Given the description of an element on the screen output the (x, y) to click on. 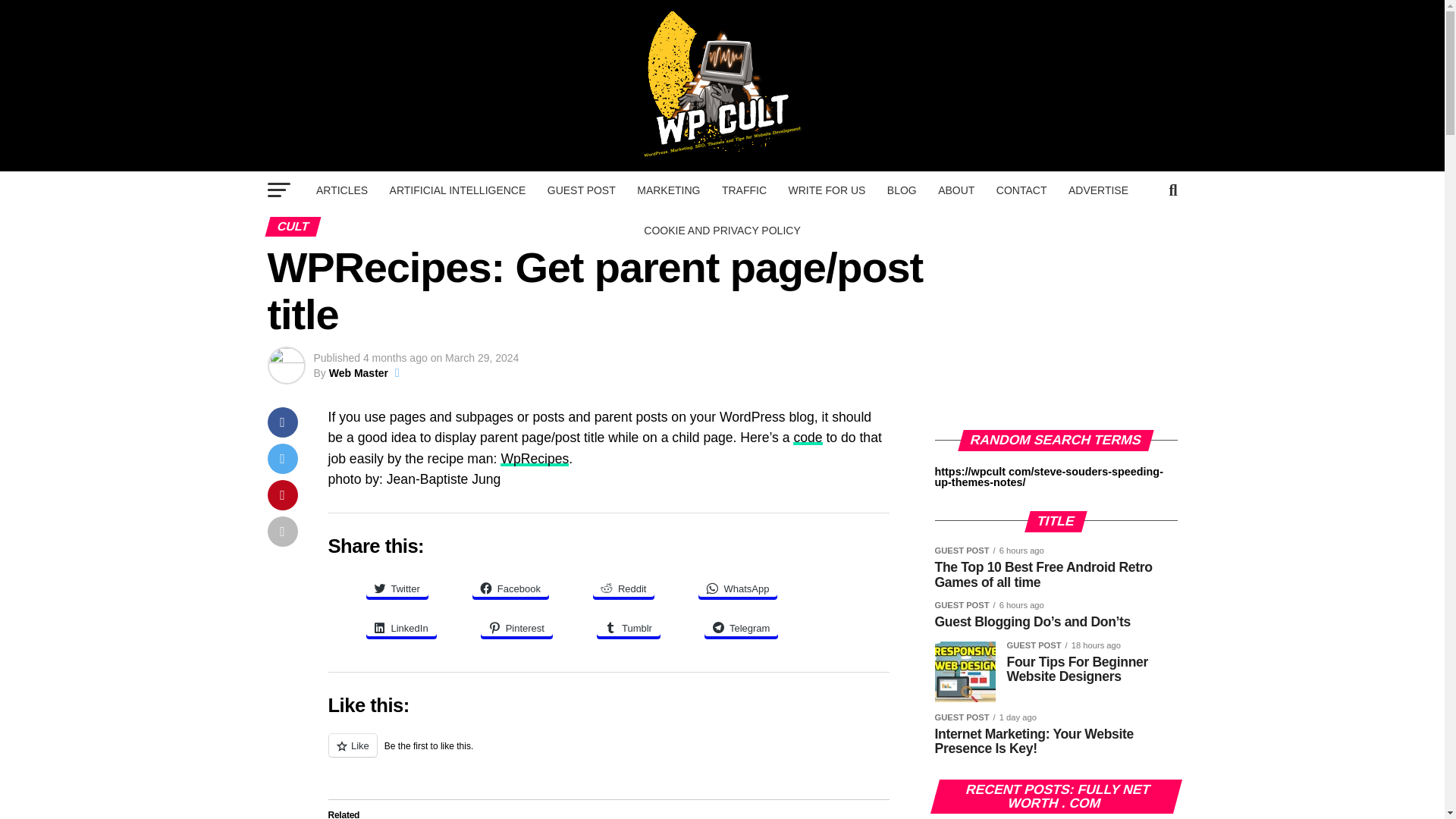
ARTIFICIAL INTELLIGENCE (457, 190)
ARTICLES (342, 190)
GUEST POST (581, 190)
